Given the description of an element on the screen output the (x, y) to click on. 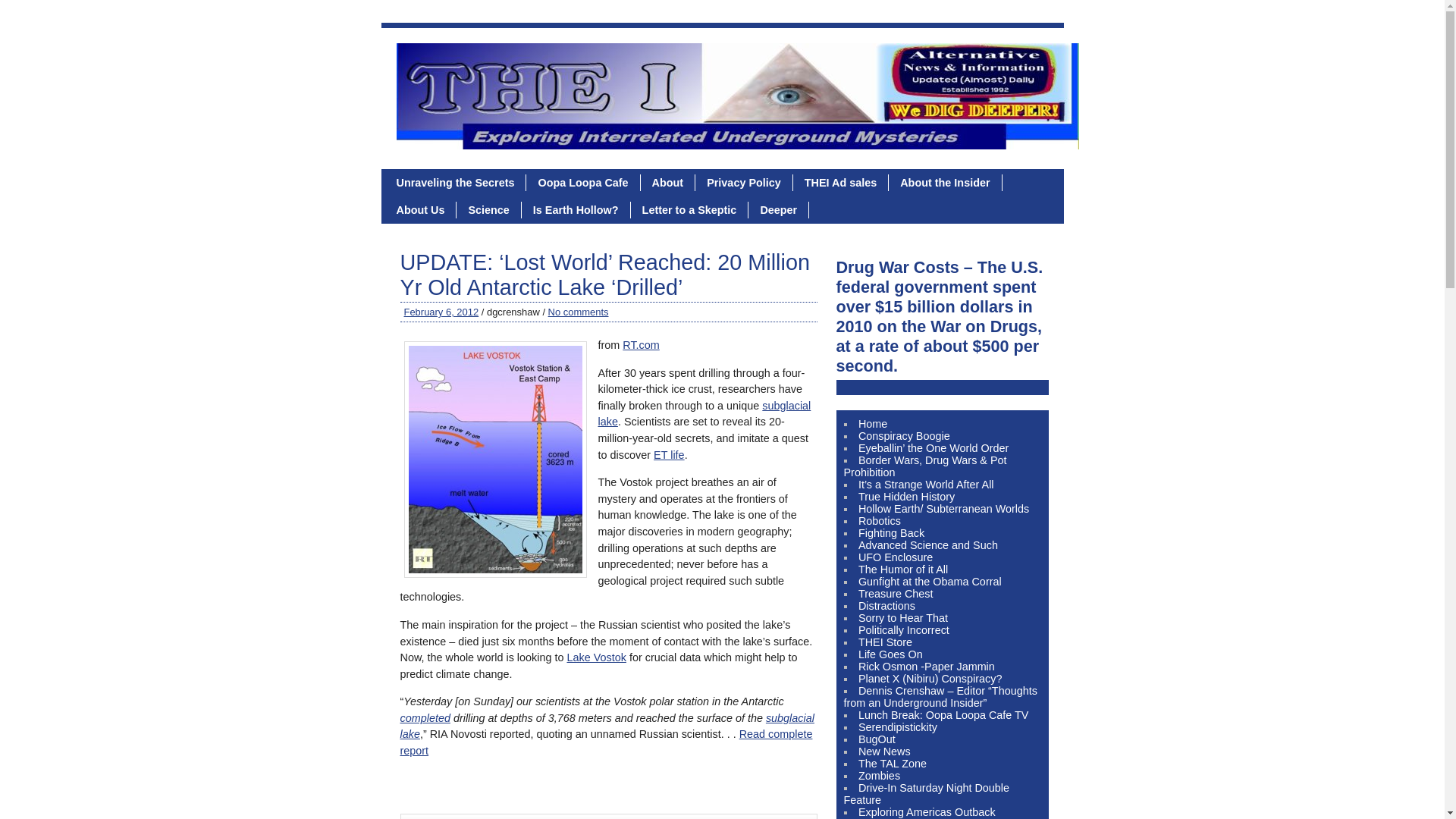
No comments (578, 311)
Is Earth Hollow? (575, 209)
Deeper (778, 209)
Robotics (880, 521)
RT.com (641, 345)
subglacial lake (703, 413)
Powered by Text-Enhance (424, 717)
THEI Ad sales (840, 182)
Unraveling the Secrets (456, 182)
Conspiracy Boogie (904, 435)
True Hidden History (907, 496)
Home (872, 423)
ET life (668, 454)
